Given the description of an element on the screen output the (x, y) to click on. 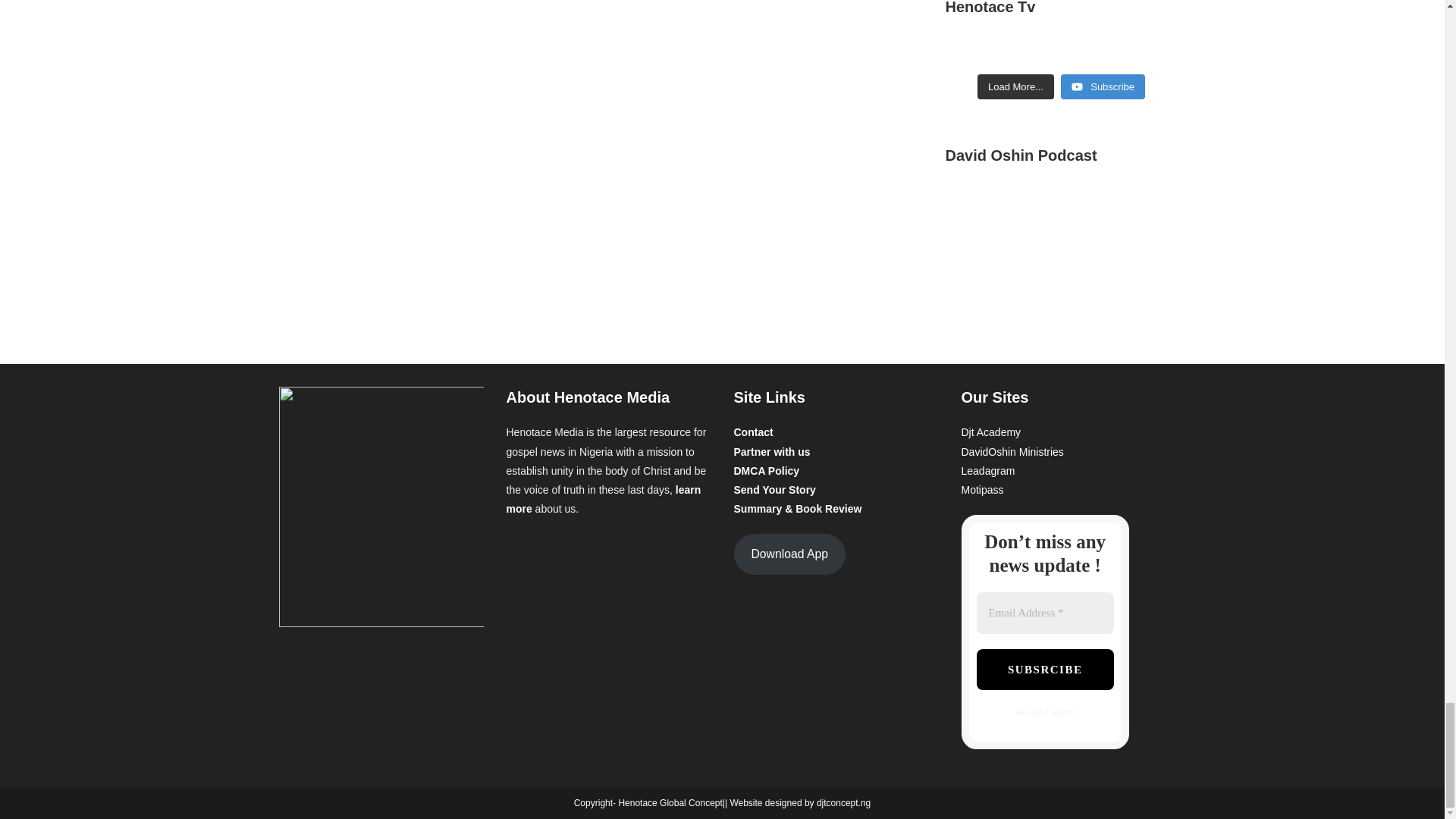
Spotify Embed: David Oshin (1060, 245)
Subsrcibe (1044, 670)
Email Address (1044, 612)
